Given the description of an element on the screen output the (x, y) to click on. 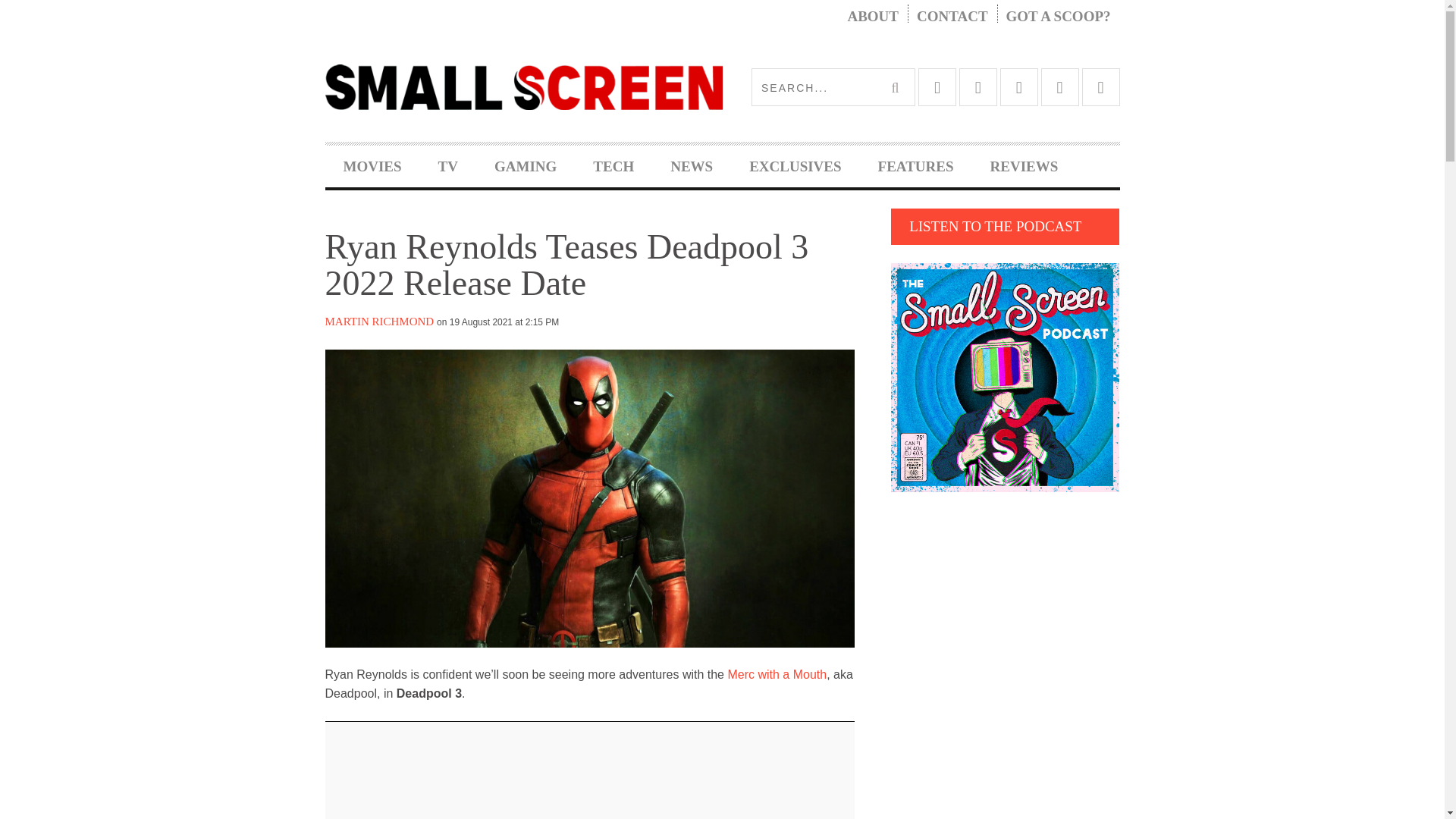
CONTACT (952, 16)
Posts by Martin Richmond (378, 321)
Listen To The Podcast (1005, 376)
Small Screen (523, 86)
GOT A SCOOP? (1058, 16)
ABOUT (872, 16)
